Given the description of an element on the screen output the (x, y) to click on. 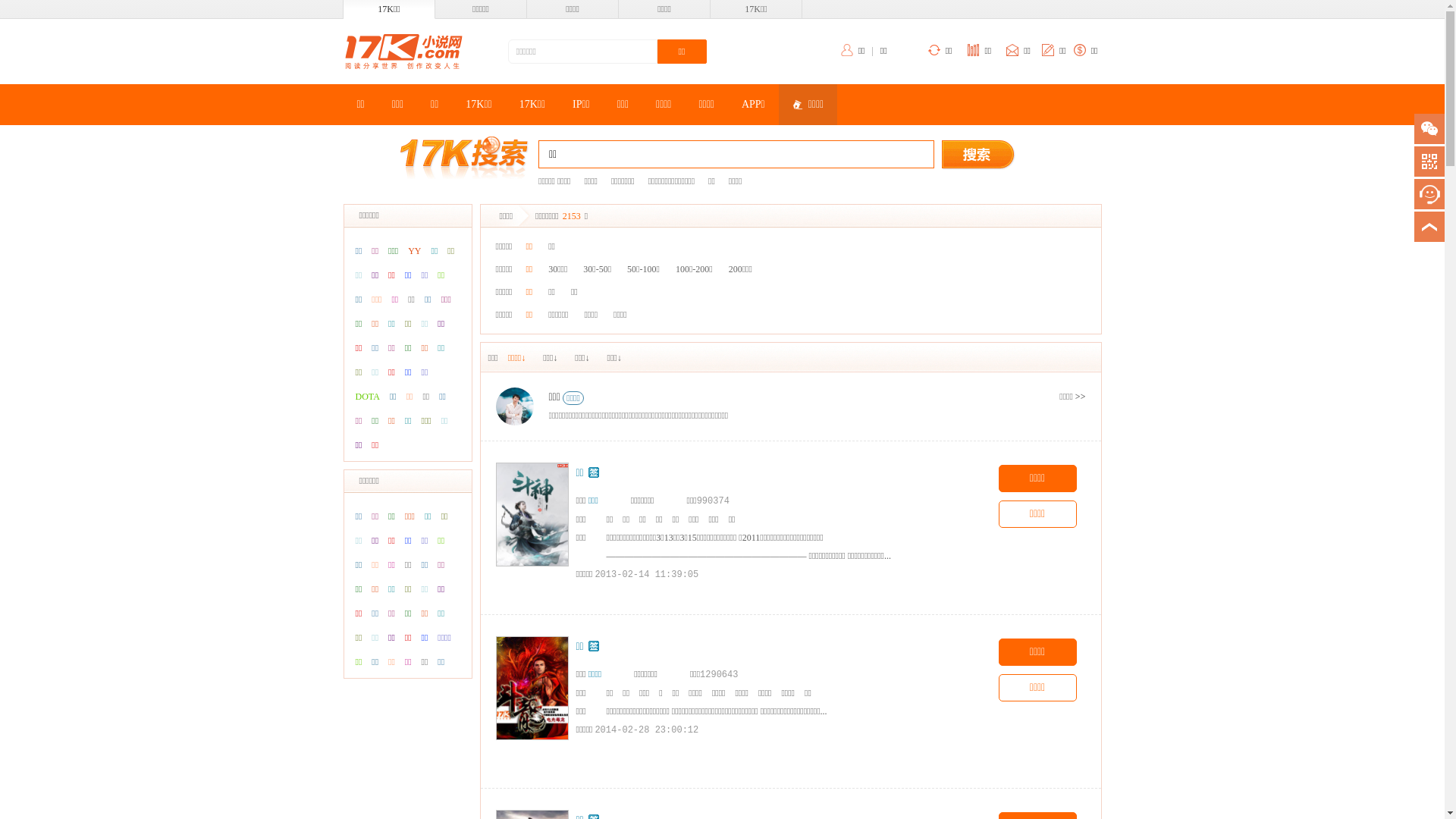
DOTA Element type: text (367, 396)
YY Element type: text (414, 250)
